Given the description of an element on the screen output the (x, y) to click on. 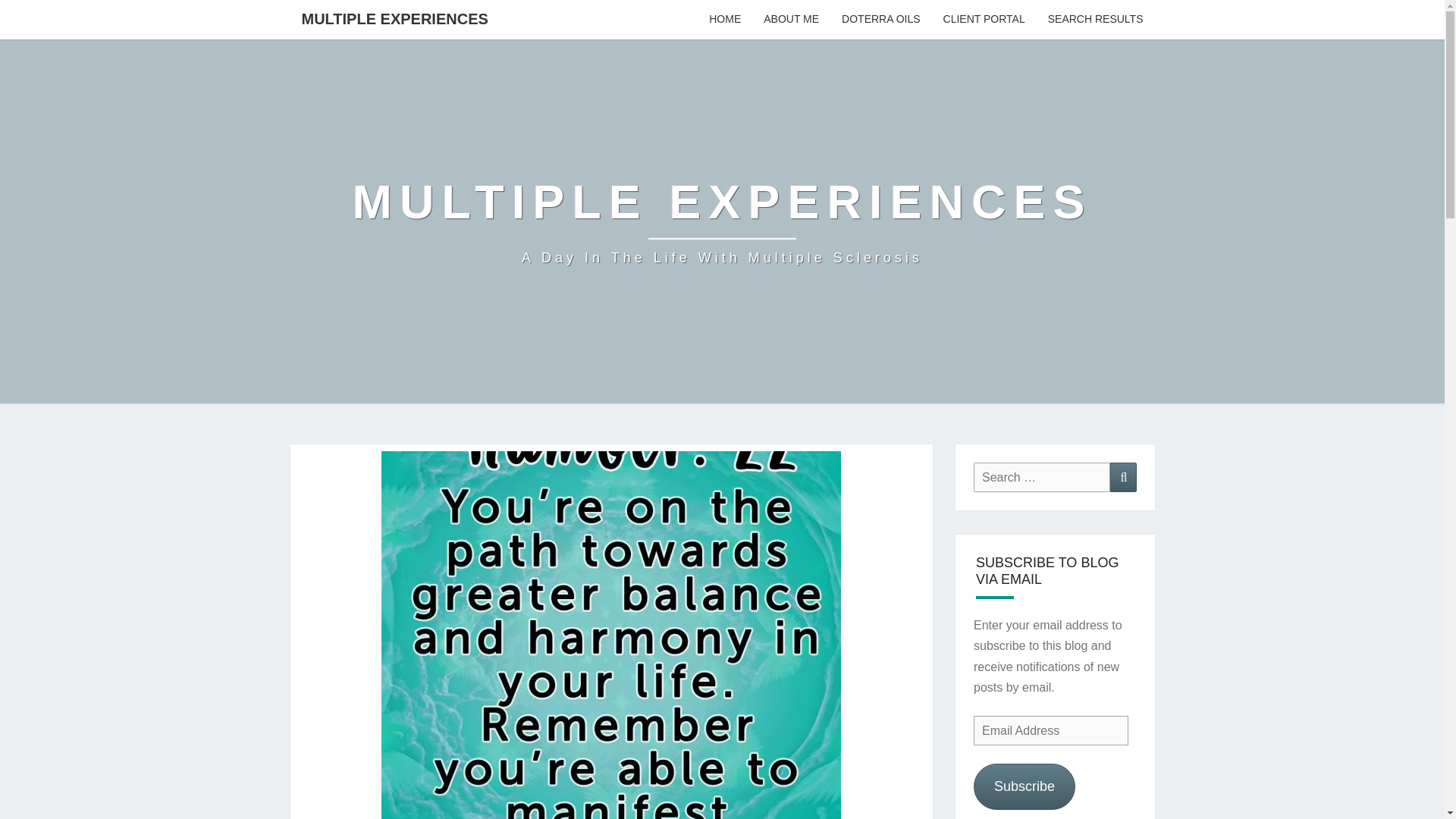
SEARCH RESULTS (1095, 19)
CLIENT PORTAL (983, 19)
DOTERRA OILS (880, 19)
ABOUT ME (790, 19)
HOME (724, 19)
Subscribe (1024, 786)
Search (1123, 477)
Multiple experienceS (722, 221)
MULTIPLE EXPERIENCES (394, 18)
Search for: (1041, 477)
